Given the description of an element on the screen output the (x, y) to click on. 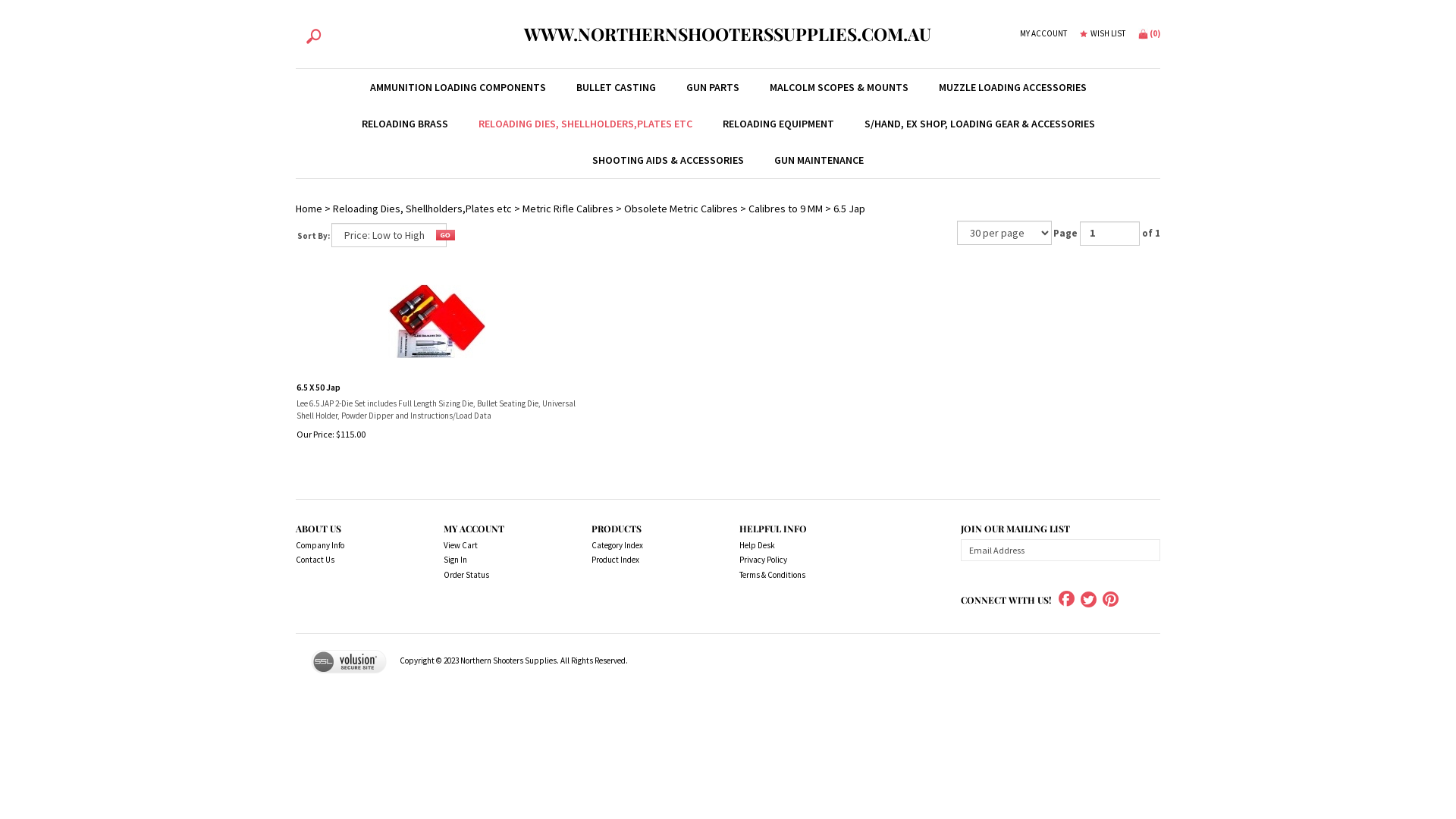
Order Status Element type: text (500, 575)
Contact Us Element type: text (352, 560)
Home Element type: text (308, 208)
Metric Rifle Calibres Element type: text (567, 208)
Subscribe Element type: text (1152, 550)
S/HAND, EX SHOP, LOADING GEAR & ACCESSORIES Element type: text (979, 123)
GUN MAINTENANCE Element type: text (818, 159)
RELOADING DIES, SHELLHOLDERS,PLATES ETC Element type: text (584, 123)
Obsolete Metric Calibres Element type: text (680, 208)
GUN PARTS Element type: text (711, 87)
Category Index Element type: text (648, 545)
MALCOLM SCOPES & MOUNTS Element type: text (837, 87)
Reloading Dies, Shellholders,Plates etc Element type: text (421, 208)
MUZZLE LOADING ACCESSORIES Element type: text (1012, 87)
RELOADING EQUIPMENT Element type: text (777, 123)
SHOOTING AIDS & ACCESSORIES Element type: text (668, 159)
(0) Element type: text (1149, 33)
6.5 Jap Element type: text (849, 208)
BULLET CASTING Element type: text (616, 87)
Sign In Element type: text (500, 560)
RELOADING BRASS Element type: text (403, 123)
Product Index Element type: text (648, 560)
WWW.NORTHERNSHOOTERSSUPPLIES.COM.AU Element type: text (727, 33)
Go to page Element type: hover (1109, 233)
WISH LIST Element type: text (1102, 34)
MY ACCOUNT Element type: text (1042, 34)
AMMUNITION LOADING COMPONENTS Element type: text (457, 87)
6.5 X 50 Jap Element type: text (436, 386)
Privacy Policy Element type: text (796, 560)
Terms & Conditions Element type: text (796, 575)
Calibres to 9 MM Element type: text (785, 208)
Company Info Element type: text (352, 545)
6.5  X 50 Jap Element type: hover (436, 321)
6.5  X 50 Jap Element type: hover (436, 321)
Help Desk Element type: text (796, 545)
View Cart Element type: text (500, 545)
